Given the description of an element on the screen output the (x, y) to click on. 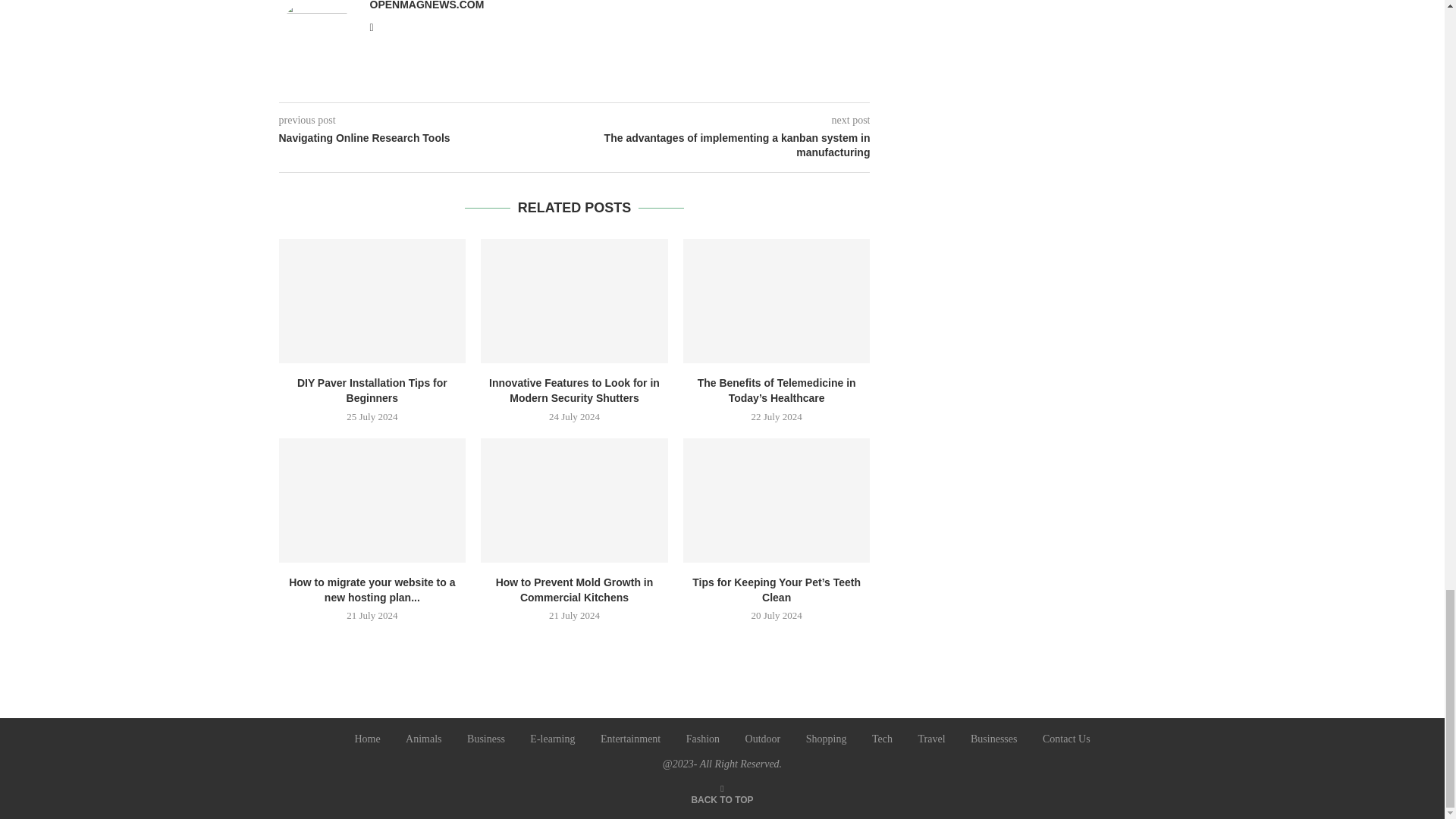
How to migrate your website to a new hosting plan seamlessly (372, 500)
How to Prevent Mold Growth in Commercial Kitchens (574, 500)
Author openmagnews.com (426, 5)
DIY Paver Installation Tips for Beginners (372, 301)
Innovative Features to Look for in Modern Security Shutters (574, 301)
